Given the description of an element on the screen output the (x, y) to click on. 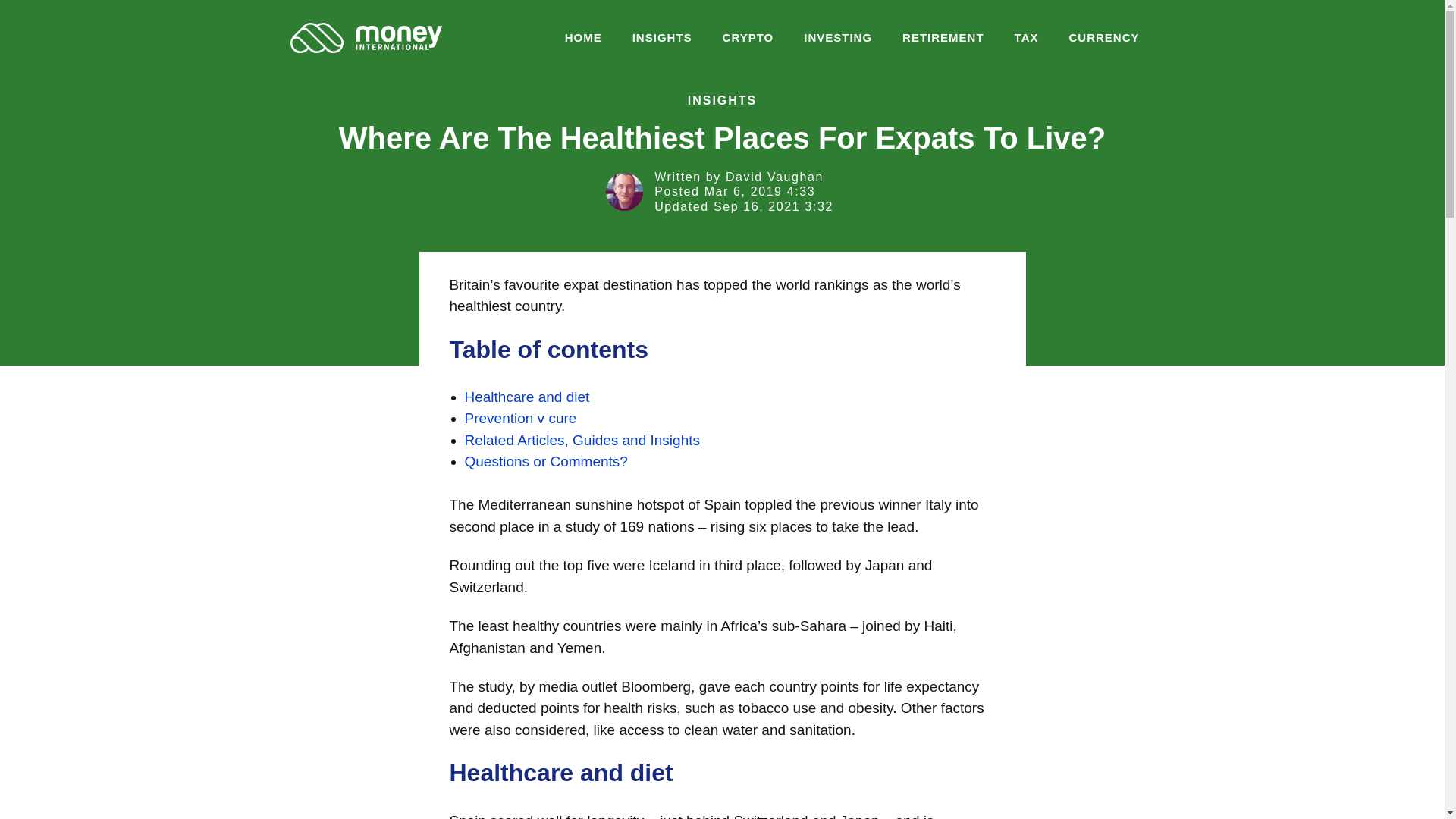
Questions or Comments? (545, 461)
RETIREMENT (942, 37)
INSIGHTS (662, 37)
Related Articles, Guides and Insights (582, 439)
Prevention v cure (520, 417)
INSIGHTS (722, 100)
HOME (583, 37)
David Vaughan (774, 176)
TAX (1026, 37)
INVESTING (837, 37)
CRYPTO (748, 37)
CURRENCY (1103, 37)
Healthcare and diet (526, 396)
